Given the description of an element on the screen output the (x, y) to click on. 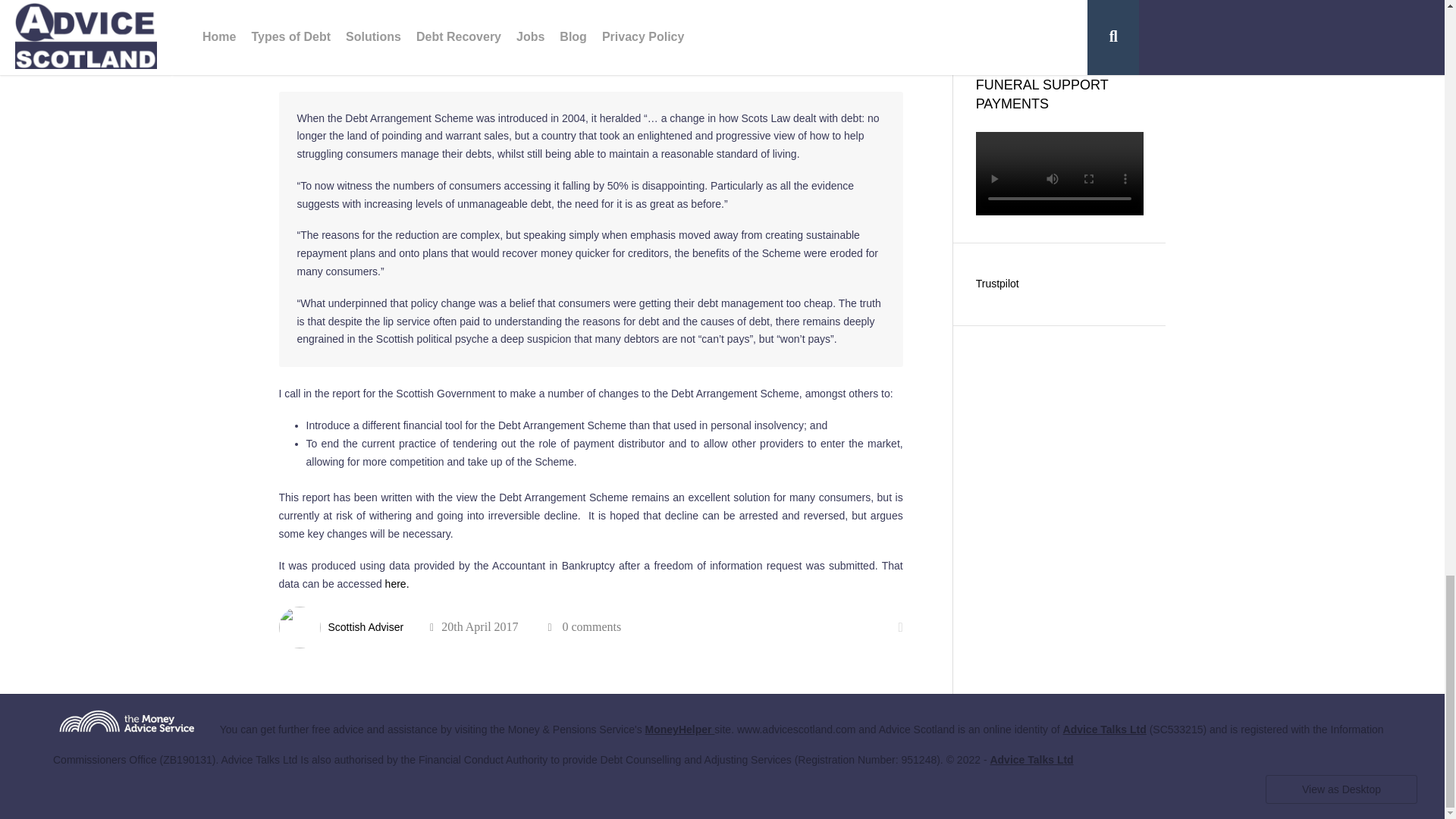
View all posts by Scottish Adviser (365, 626)
3:04 am (473, 626)
View as Desktop (1340, 788)
